Given the description of an element on the screen output the (x, y) to click on. 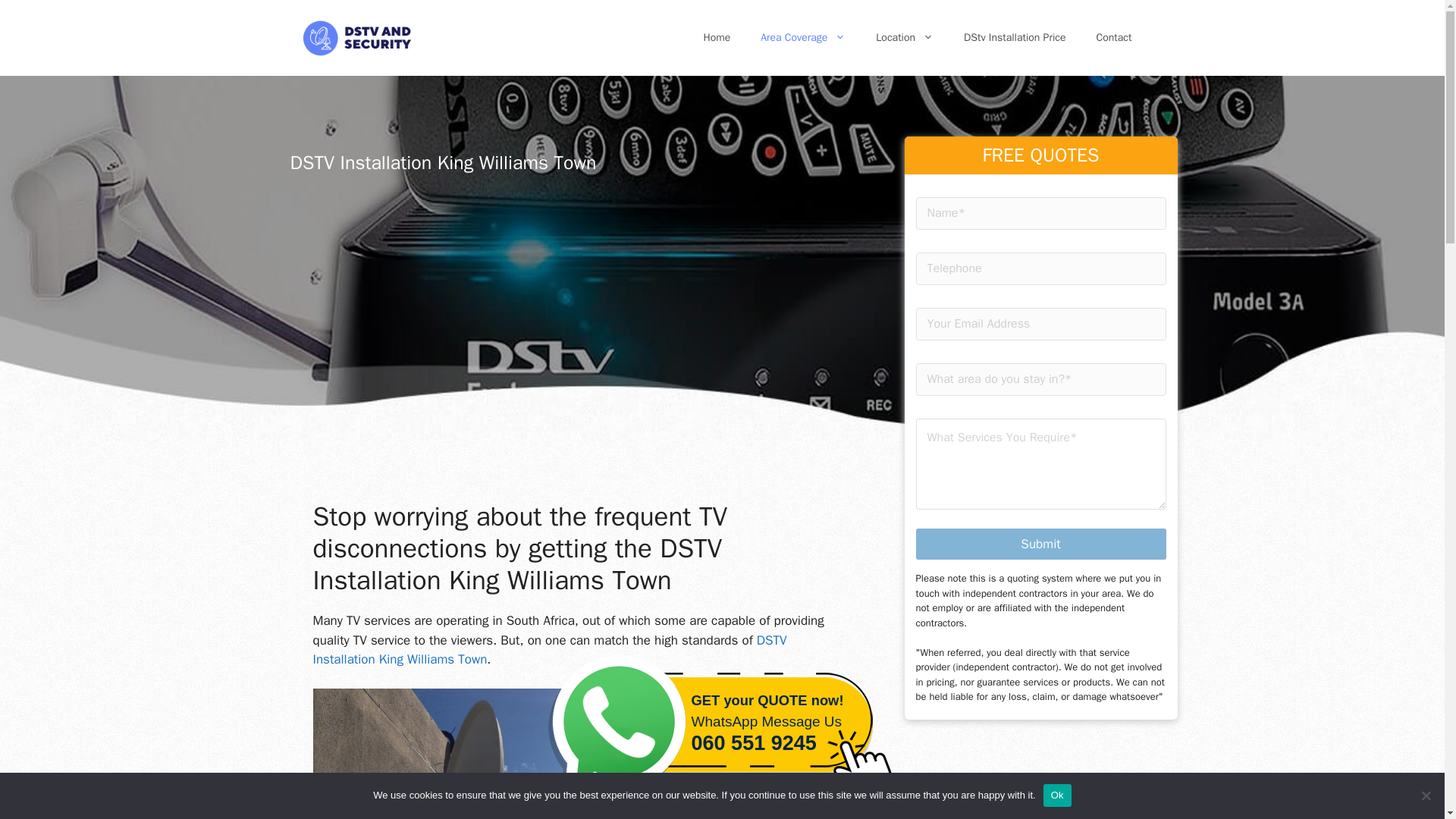
Area Coverage (802, 37)
DStv Installation Price (1014, 37)
Submit (1040, 543)
Contact (1114, 37)
Home (716, 37)
Location (904, 37)
No (1425, 795)
DSTV Installation King Williams Town (549, 650)
